Given the description of an element on the screen output the (x, y) to click on. 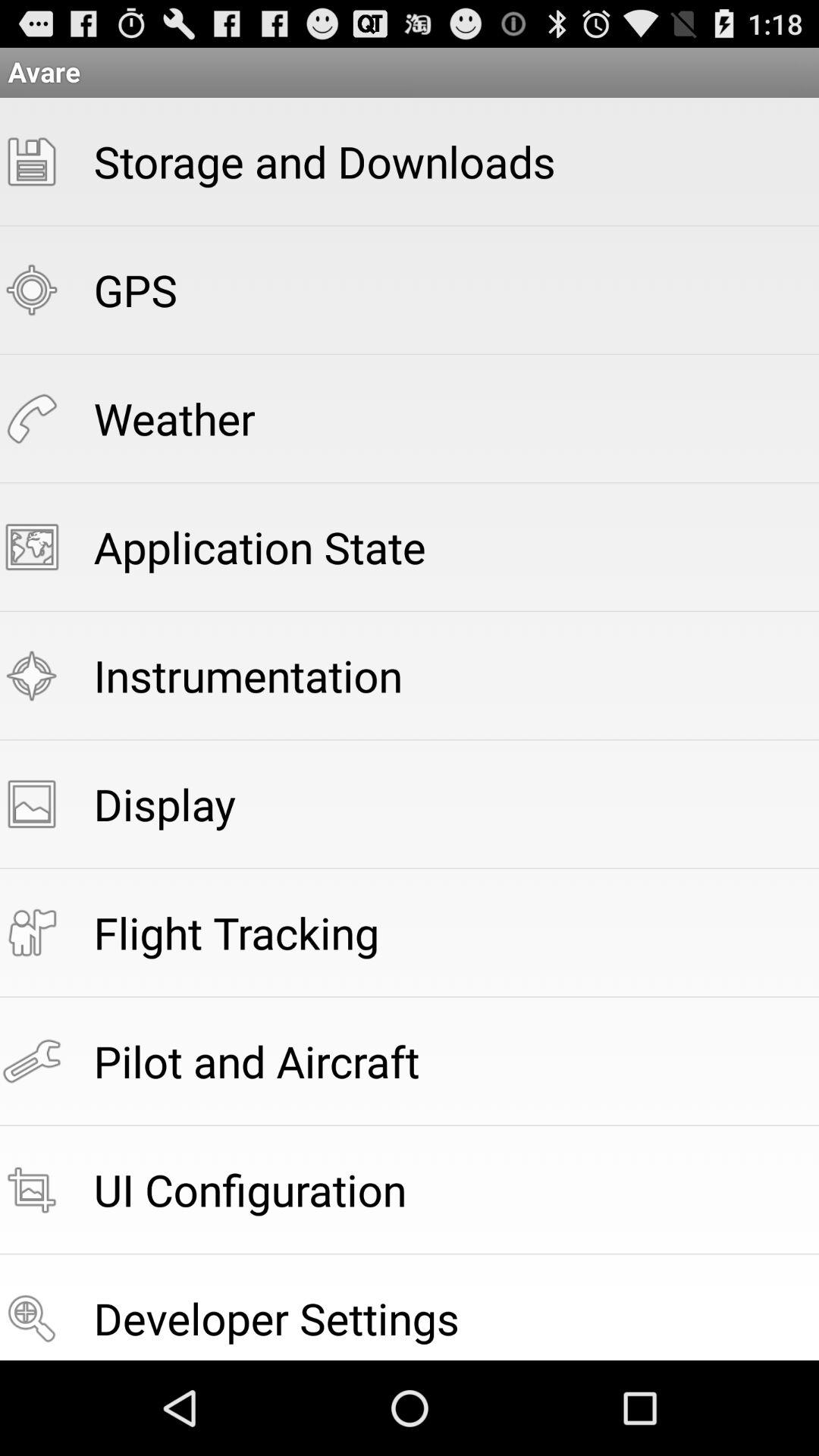
turn on app below the instrumentation item (164, 803)
